Given the description of an element on the screen output the (x, y) to click on. 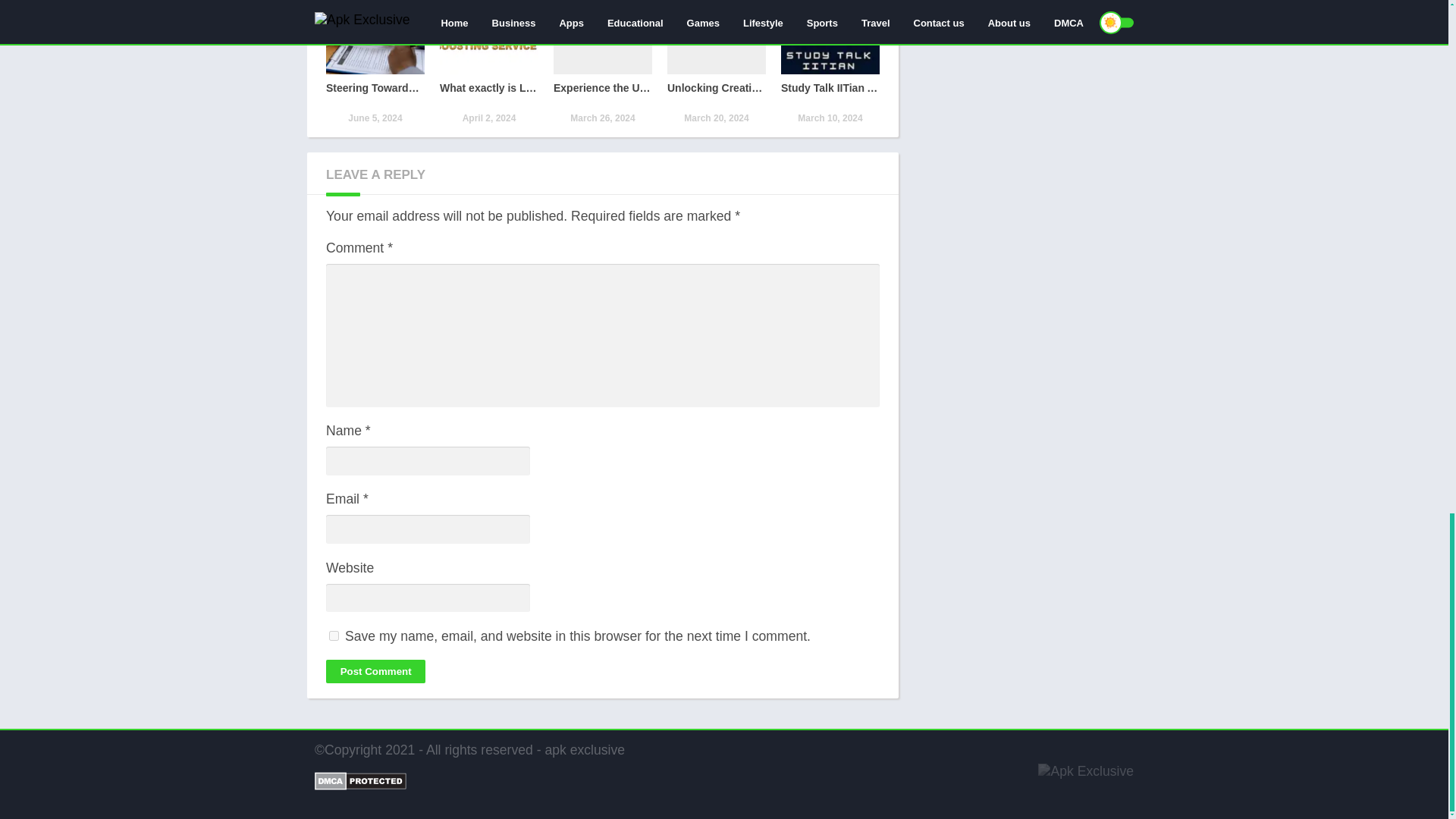
Study Talk IITian APK: A Learning App for Aspiring Engineers (488, 63)
Post Comment (829, 63)
yes (375, 671)
What exactly is League of Legends boosting? (334, 635)
DMCA.com Protection Status (488, 63)
